Given the description of an element on the screen output the (x, y) to click on. 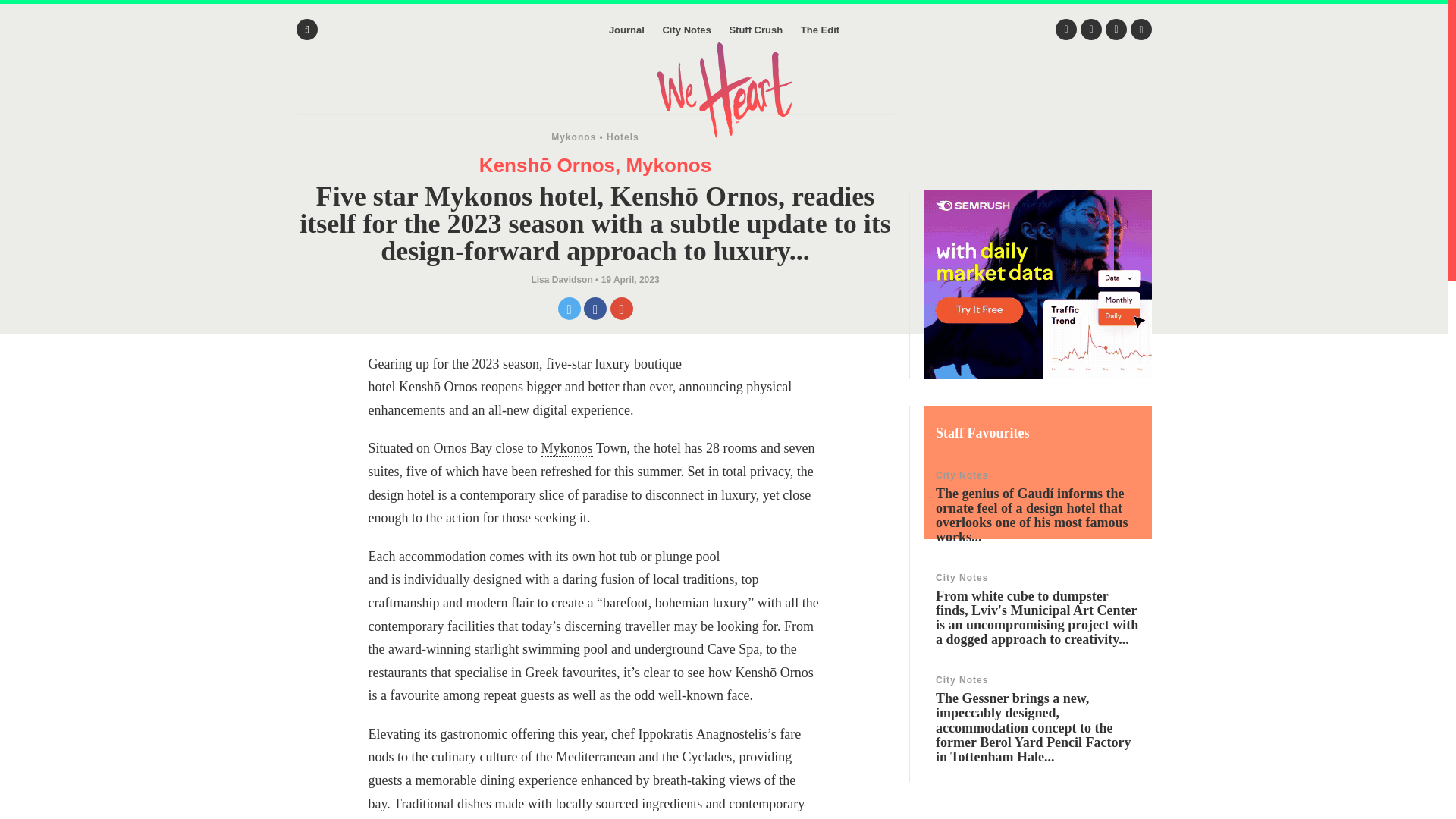
Twitter (1066, 29)
Mykonos (573, 136)
Facebook (1091, 29)
H10 Casa Mimosa, Barcelona (1038, 506)
Stuff Crush (756, 30)
The Edit (820, 30)
Instagram (1115, 29)
